Given the description of an element on the screen output the (x, y) to click on. 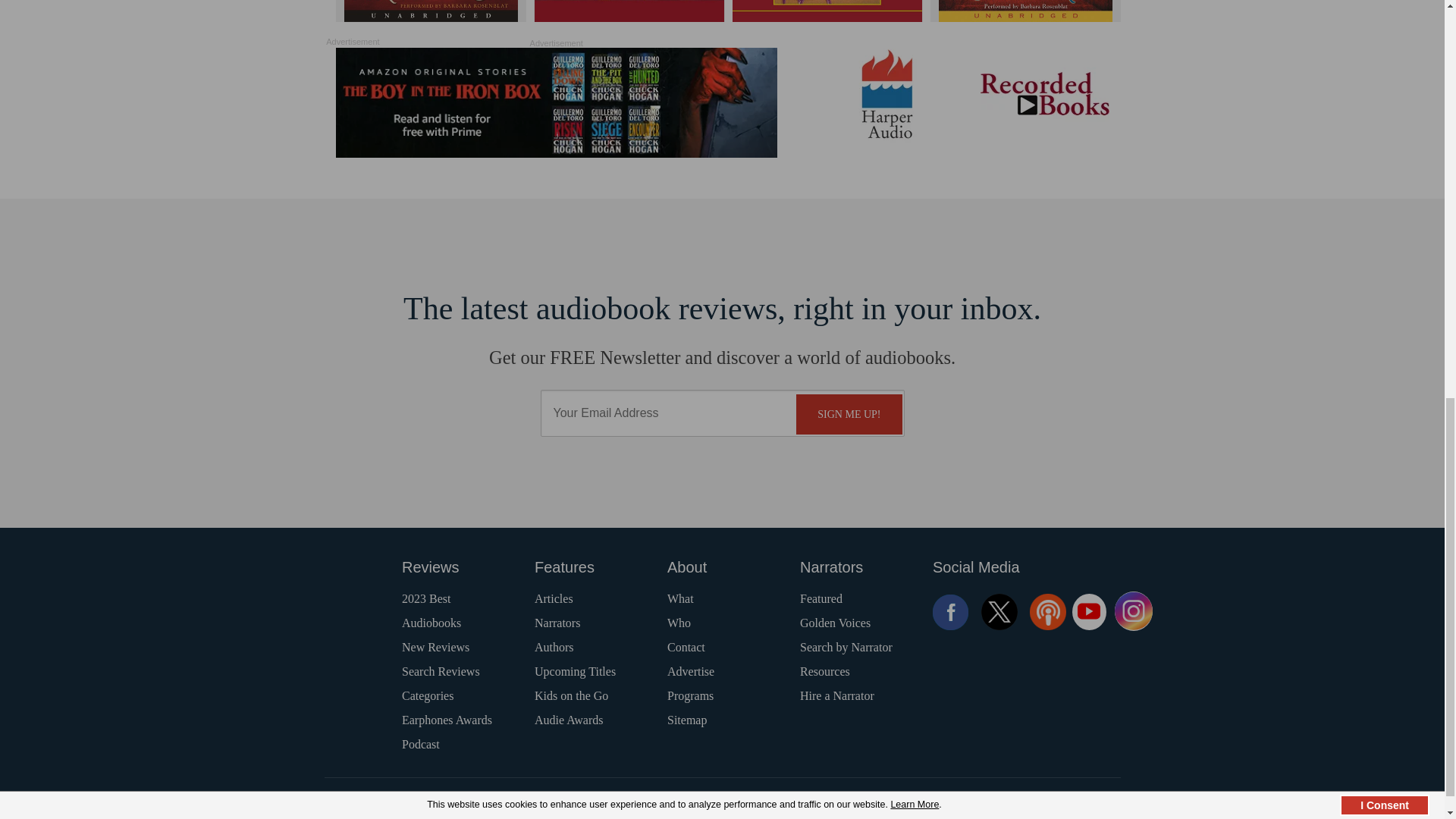
Facebook (951, 611)
Podcast (1047, 611)
Twitter (999, 611)
YouTube (1088, 611)
Instagram (1134, 611)
Sign Me Up! (848, 413)
